Given the description of an element on the screen output the (x, y) to click on. 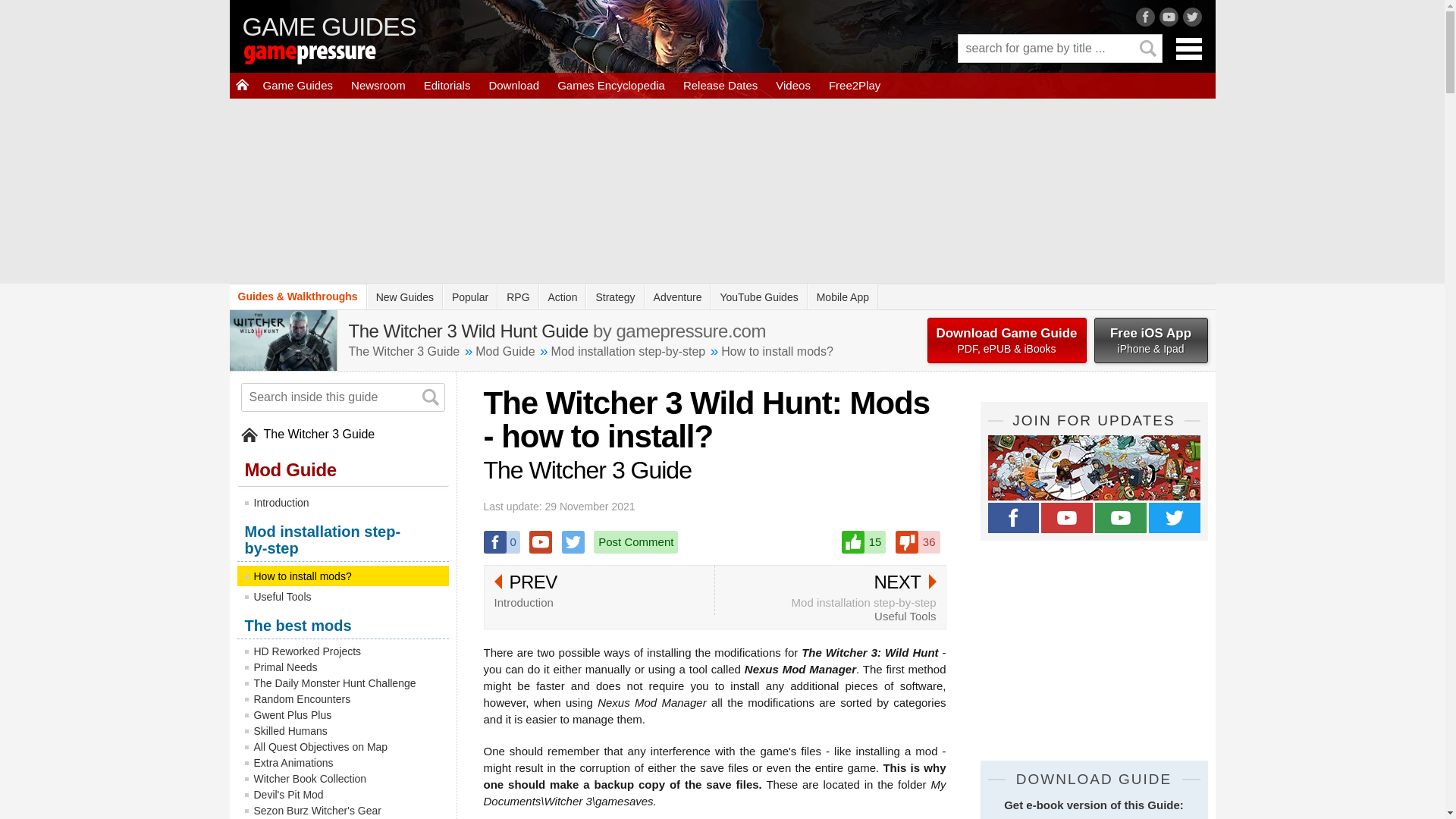
Action (562, 296)
Good (863, 541)
Comments (636, 541)
Gamepressure.com on Facebook (1013, 517)
Gamepressure.com na Youtube (1067, 517)
The Witcher 3 Guide (404, 350)
Strategy (614, 296)
Twitter (573, 541)
RPG (517, 296)
